Given the description of an element on the screen output the (x, y) to click on. 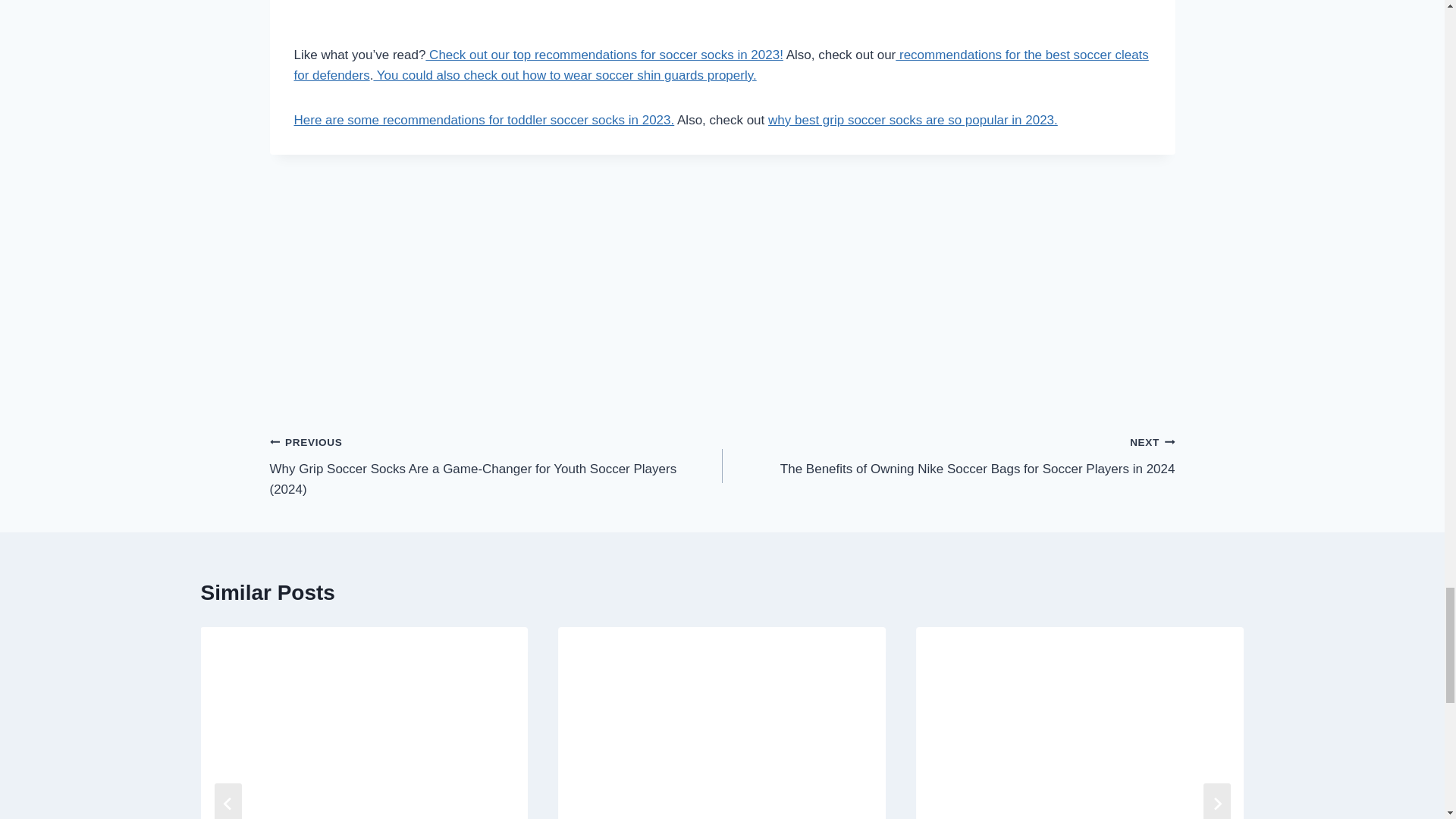
recommendations for the best soccer cleats for defenders (721, 64)
why best grip soccer socks are so popular in 2023. (913, 120)
Check out our top recommendations for soccer socks in 2023! (604, 54)
